Given the description of an element on the screen output the (x, y) to click on. 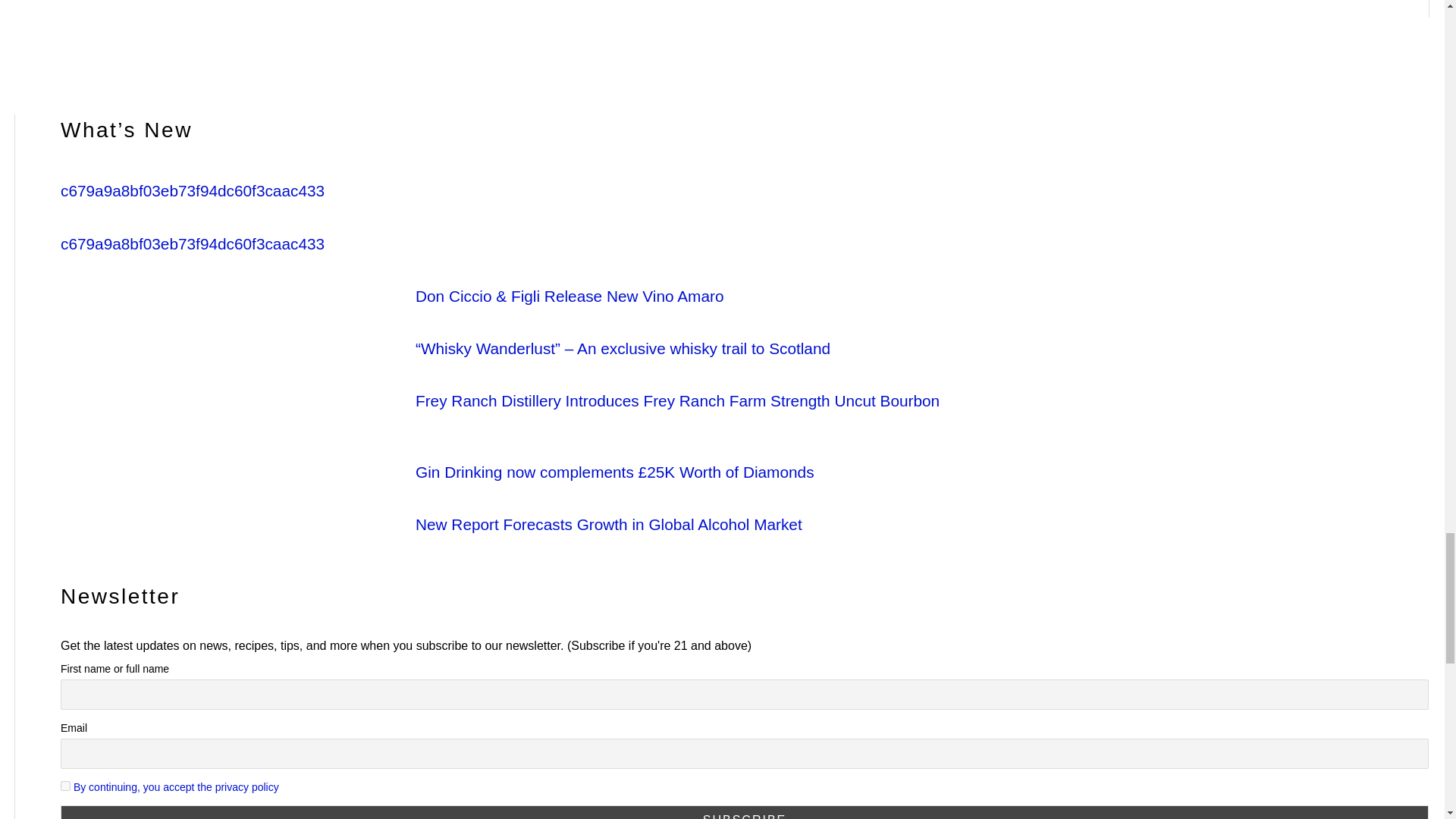
on (65, 786)
